Given the description of an element on the screen output the (x, y) to click on. 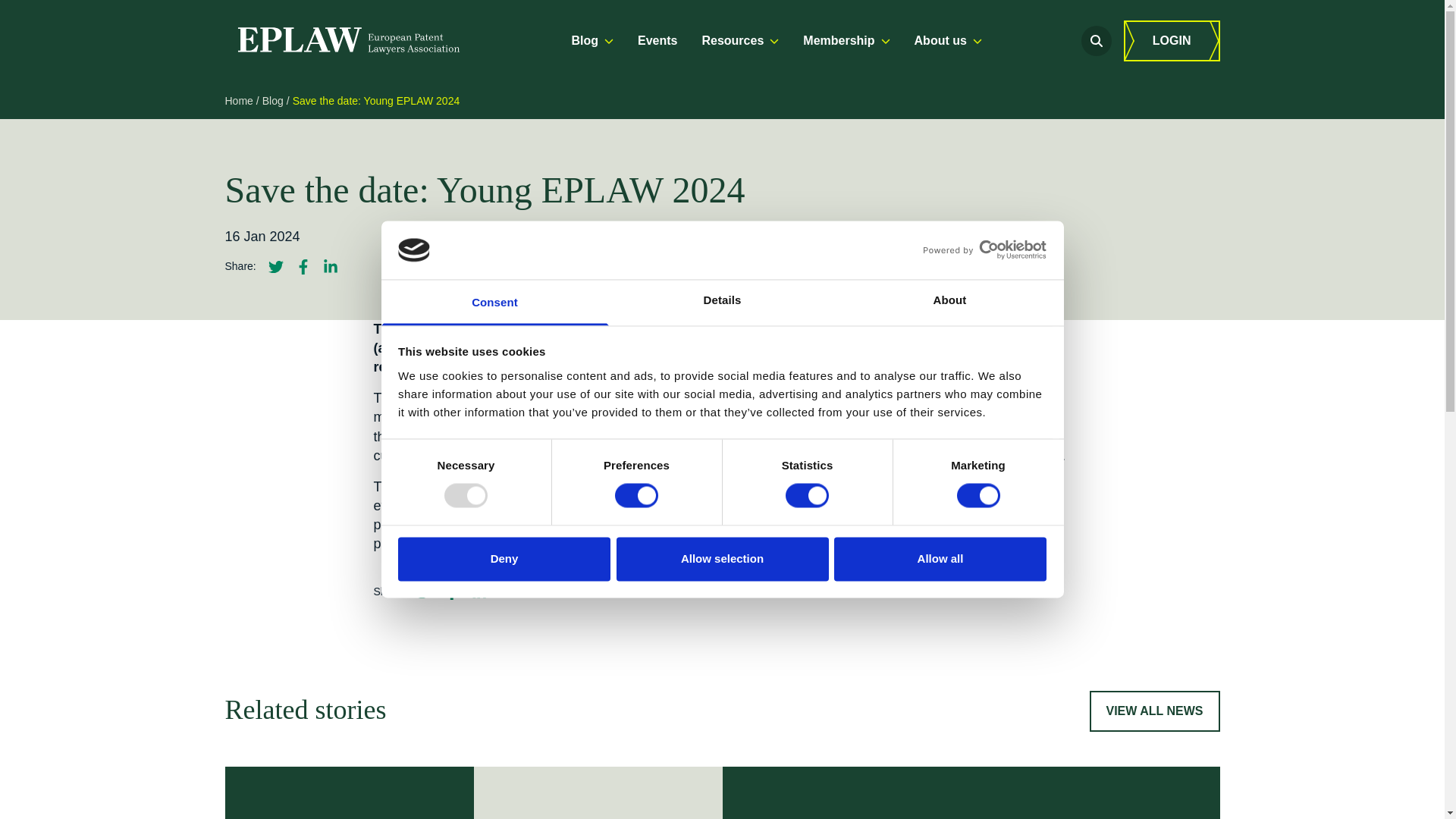
Deny (503, 558)
EPLAW (347, 40)
Consent (494, 302)
Allow selection (721, 558)
VIEW ALL NEWS (1154, 711)
About (948, 302)
Details (721, 302)
Allow all (940, 558)
Resources (739, 41)
Open search form (1096, 40)
